Given the description of an element on the screen output the (x, y) to click on. 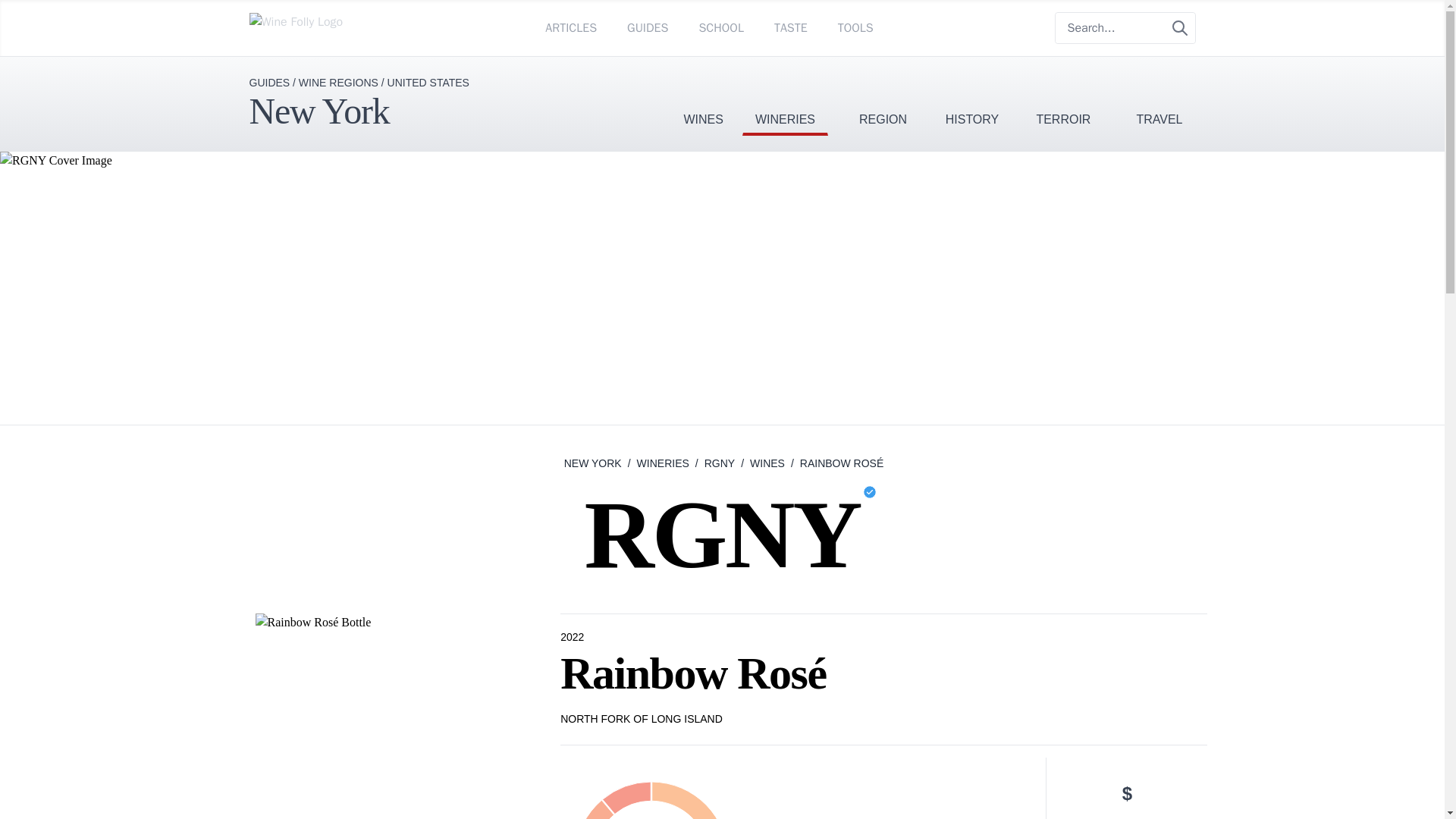
WINERIES (785, 95)
TASTE (791, 27)
ARTICLES (570, 27)
NEW YORK (592, 462)
2022 (573, 636)
New York (318, 110)
HISTORY (972, 95)
TOOLS (855, 27)
UNITED STATES (427, 82)
TRAVEL (1158, 95)
